Given the description of an element on the screen output the (x, y) to click on. 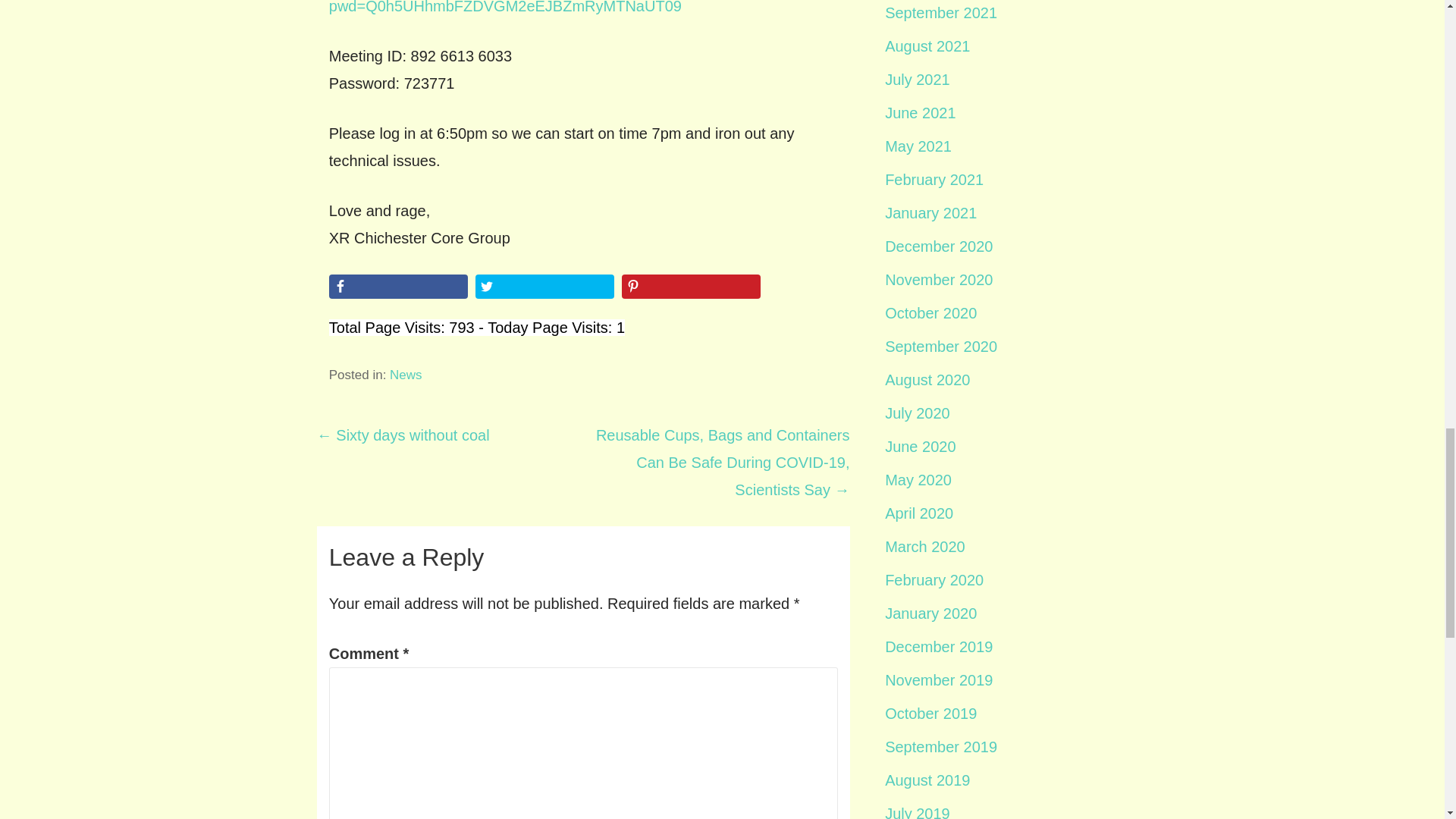
News (406, 374)
Share on Facebook (398, 286)
Share on Twitter (545, 286)
Share on Pinterest (690, 286)
